Given the description of an element on the screen output the (x, y) to click on. 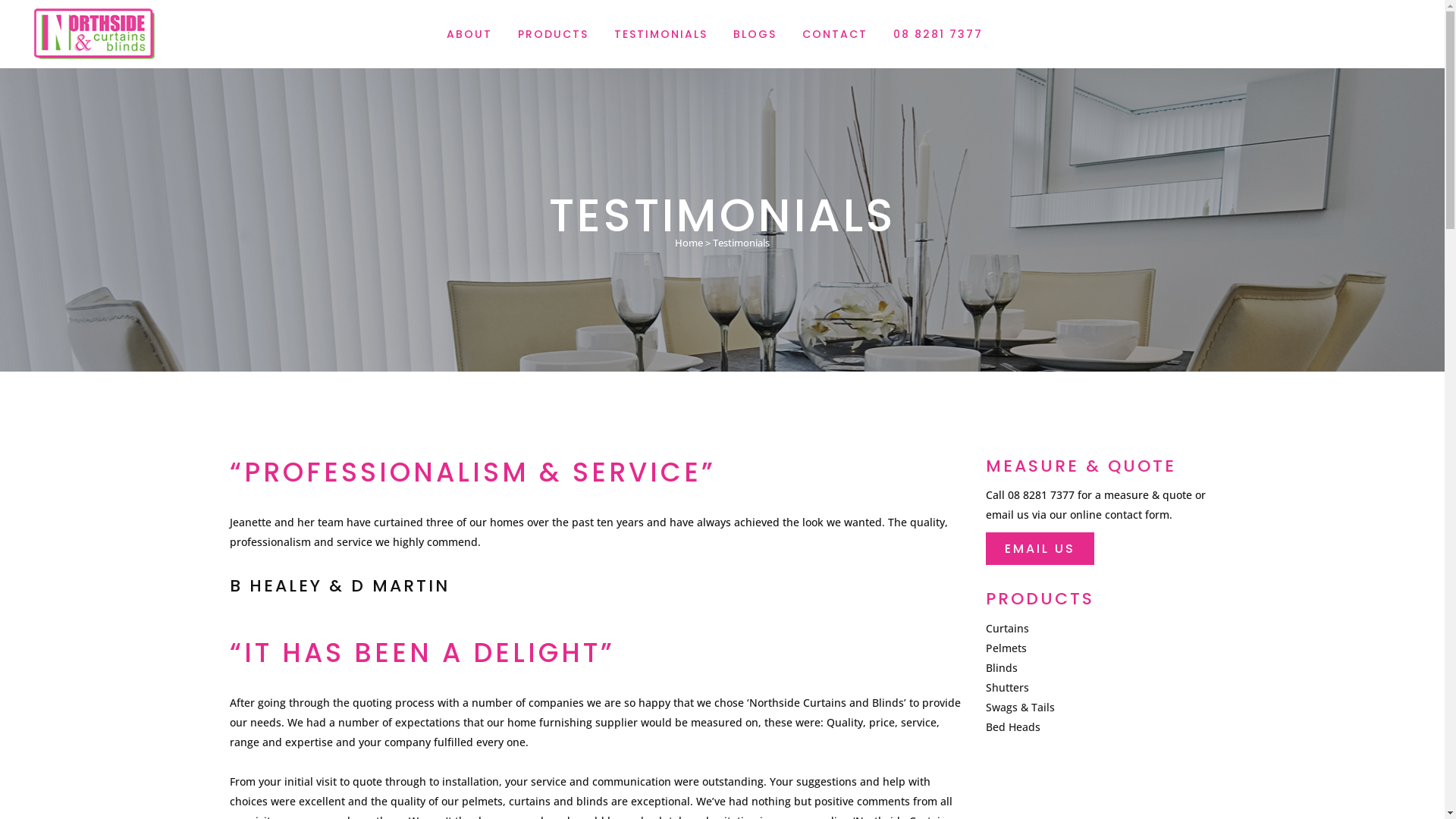
Swags & Tails Element type: text (1019, 706)
CONTACT Element type: text (833, 34)
TESTIMONIALS Element type: text (659, 34)
BLOGS Element type: text (754, 34)
PRODUCTS Element type: text (553, 34)
Curtains Element type: text (1007, 627)
Pelmets Element type: text (1005, 647)
Blinds Element type: text (1001, 666)
08 8281 7377 Element type: text (936, 34)
Home Element type: text (688, 241)
Bed Heads Element type: text (1012, 725)
EMAIL US Element type: text (1039, 548)
Shutters Element type: text (1007, 686)
ABOUT Element type: text (469, 34)
